Given the description of an element on the screen output the (x, y) to click on. 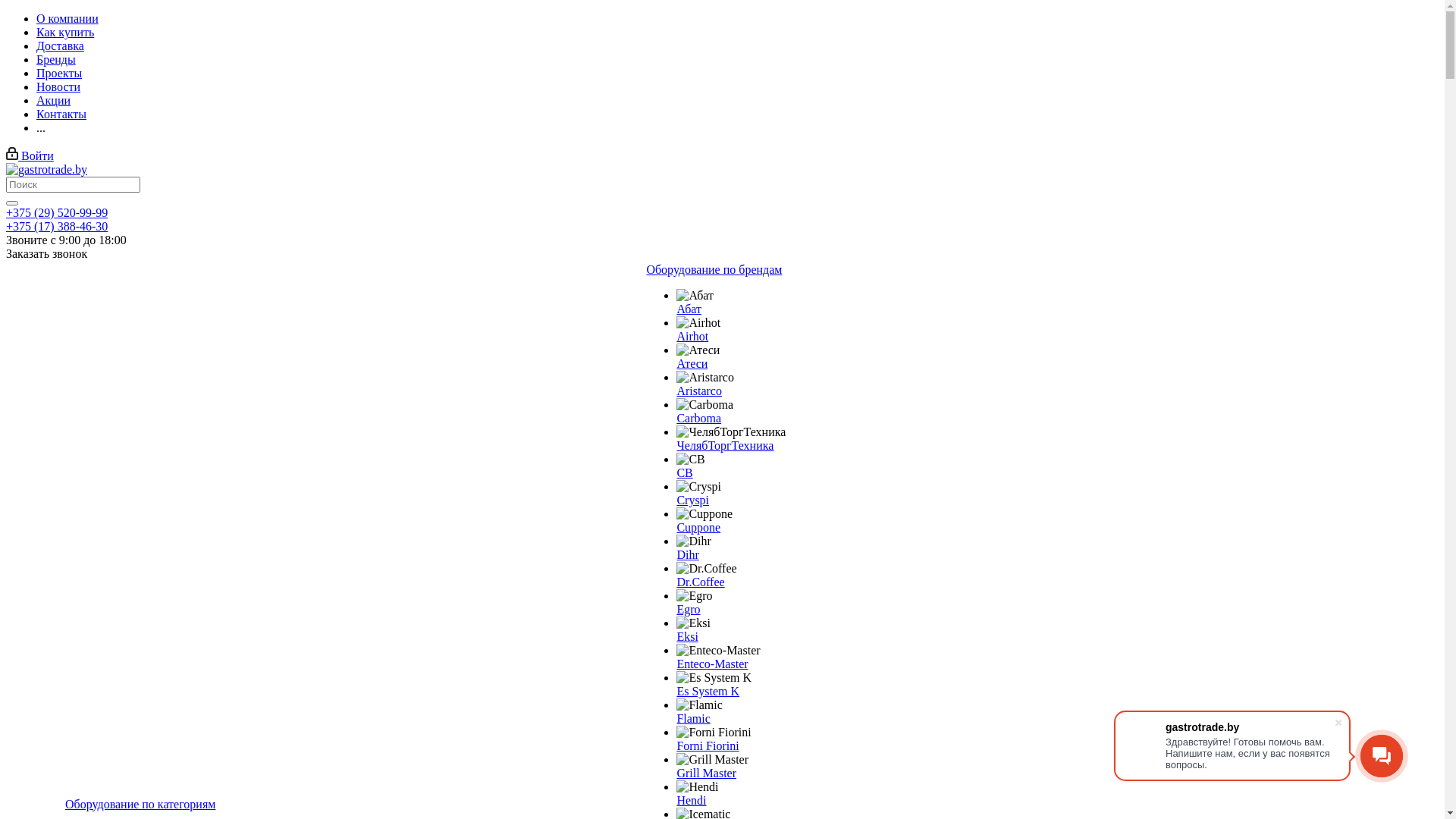
Cuppone Element type: text (698, 526)
Enteco-Master Element type: text (711, 663)
Hendi Element type: text (691, 799)
Enteco-Master Element type: hover (717, 650)
Hendi Element type: hover (697, 786)
Cryspi Element type: text (692, 499)
Cuppone Element type: hover (704, 513)
Airhot Element type: hover (698, 322)
Es System K Element type: text (707, 690)
Carboma Element type: hover (704, 404)
Flamic Element type: hover (698, 705)
Aristarco Element type: text (698, 390)
Airhot Element type: text (692, 335)
Forni Fiorini Element type: text (707, 745)
+375 (17) 388-46-30 Element type: text (56, 225)
Flamic Element type: text (692, 718)
Eksi Element type: text (686, 636)
Dihr Element type: text (687, 554)
Forni Fiorini Element type: hover (713, 732)
+375 (29) 520-99-99 Element type: text (56, 212)
Grill Master Element type: hover (712, 759)
Egro Element type: hover (694, 595)
Dr.Coffee Element type: hover (706, 568)
Es System K Element type: hover (713, 677)
Eksi Element type: hover (692, 623)
CB Element type: hover (690, 459)
Aristarco Element type: hover (705, 377)
Grill Master Element type: text (706, 772)
Egro Element type: text (687, 608)
Carboma Element type: text (698, 417)
Dr.Coffee Element type: text (700, 581)
CB Element type: text (684, 472)
gastrotrade.by Element type: hover (46, 169)
Cryspi Element type: hover (698, 486)
Dihr Element type: hover (693, 541)
